Given the description of an element on the screen output the (x, y) to click on. 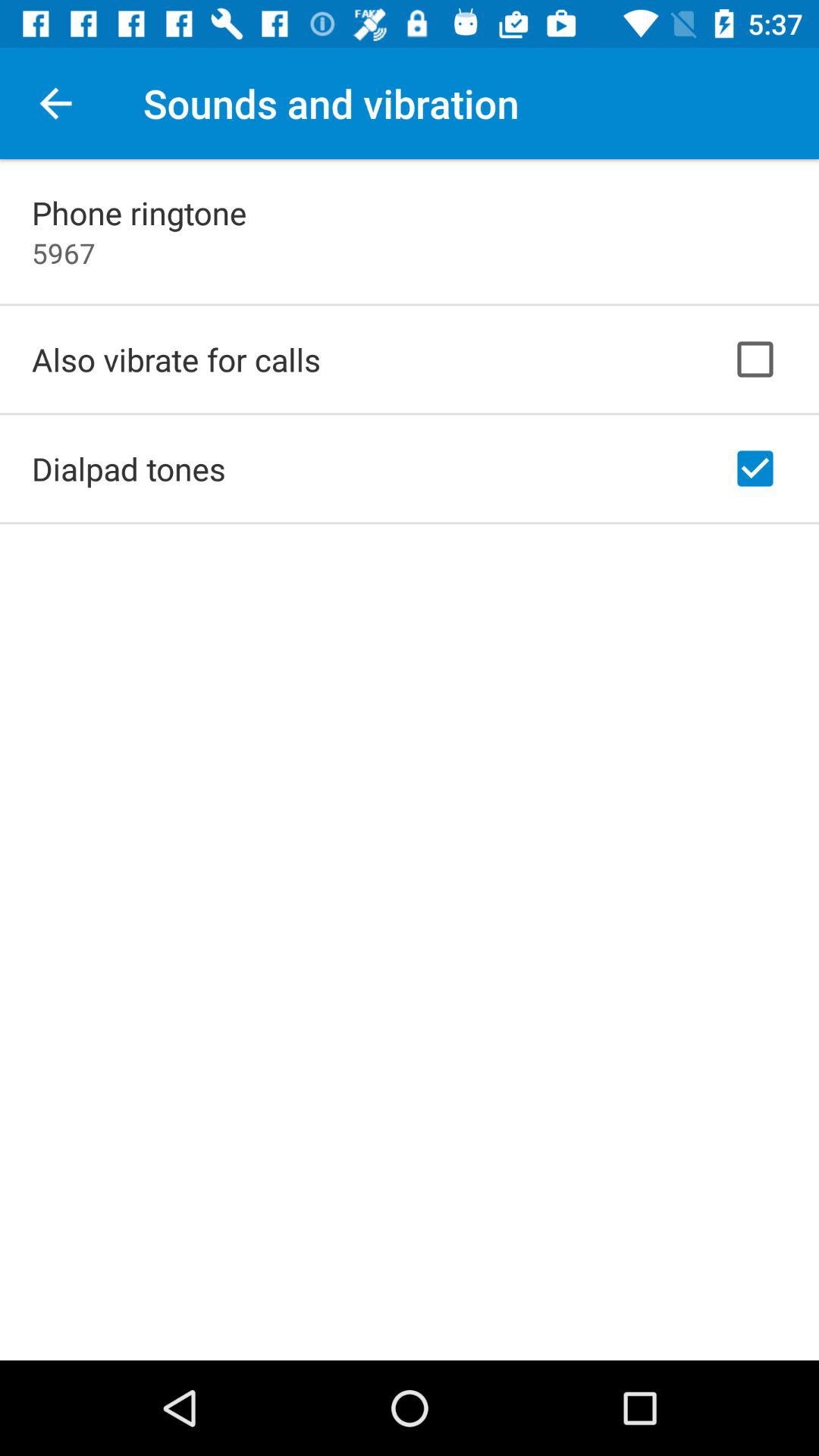
select app above also vibrate for app (63, 252)
